Given the description of an element on the screen output the (x, y) to click on. 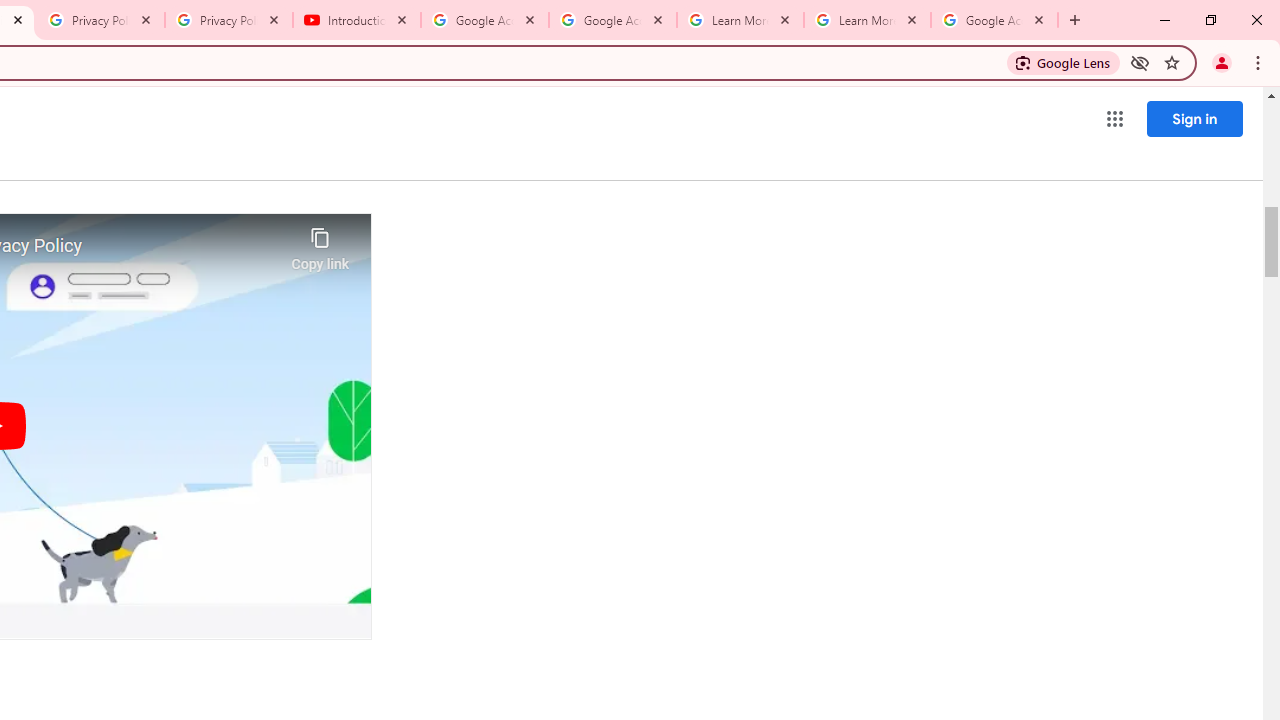
Search with Google Lens (1063, 62)
Introduction | Google Privacy Policy - YouTube (357, 20)
Google Account (994, 20)
